Given the description of an element on the screen output the (x, y) to click on. 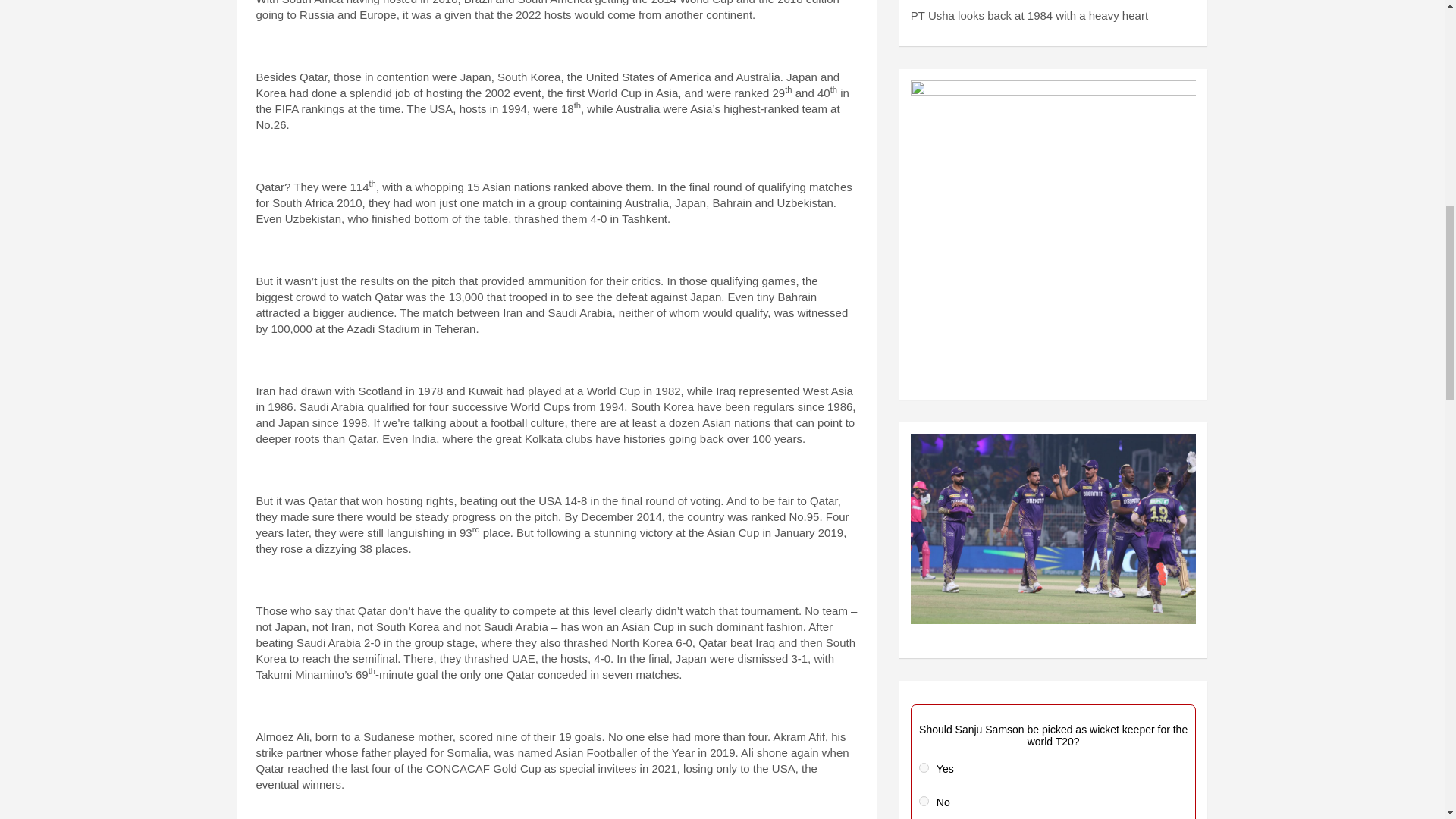
30 (923, 800)
29 (923, 767)
